Given the description of an element on the screen output the (x, y) to click on. 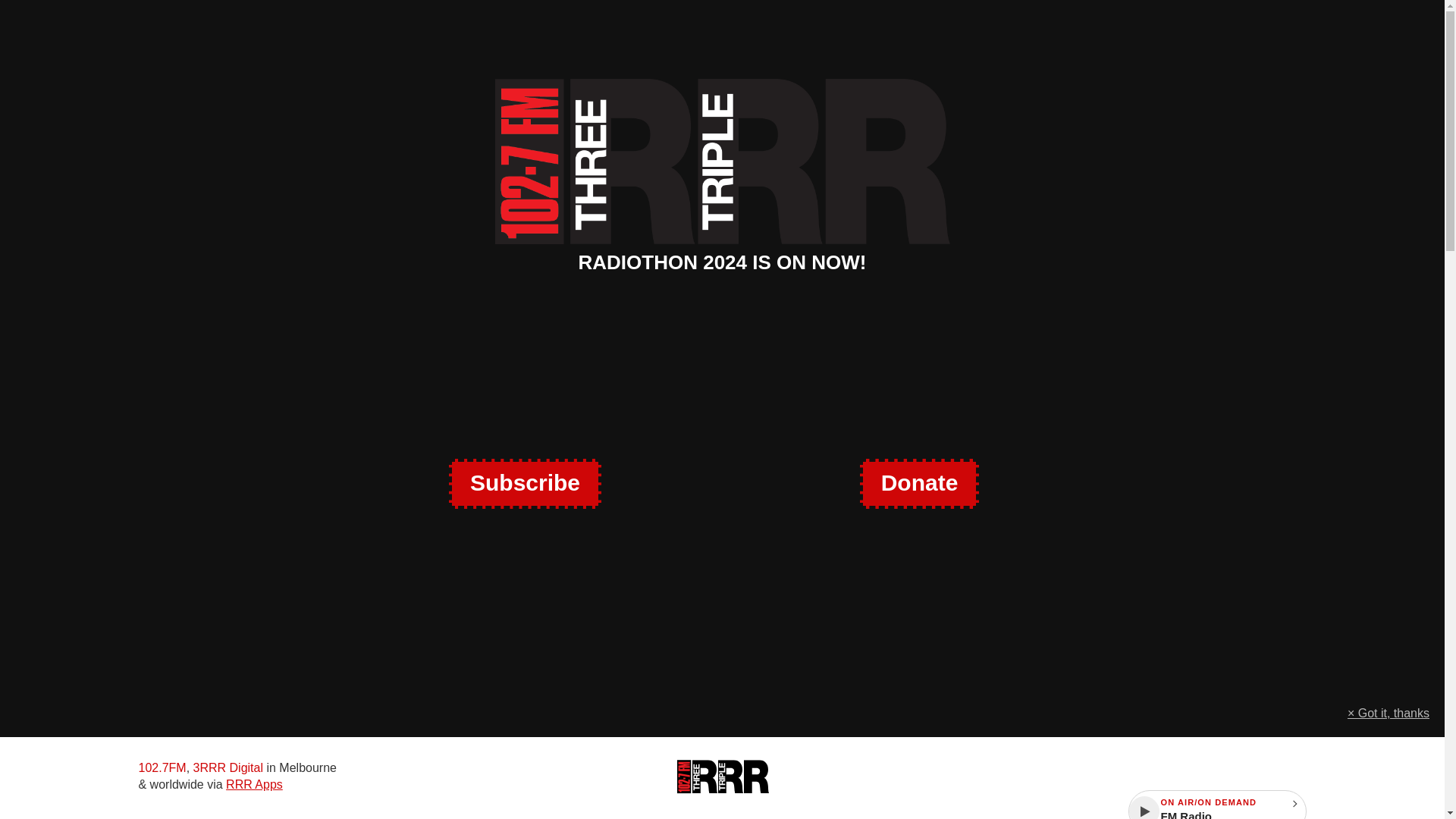
Triple R logo (722, 776)
RRR Apps (253, 784)
Subscribe (524, 483)
Donate (919, 483)
